Given the description of an element on the screen output the (x, y) to click on. 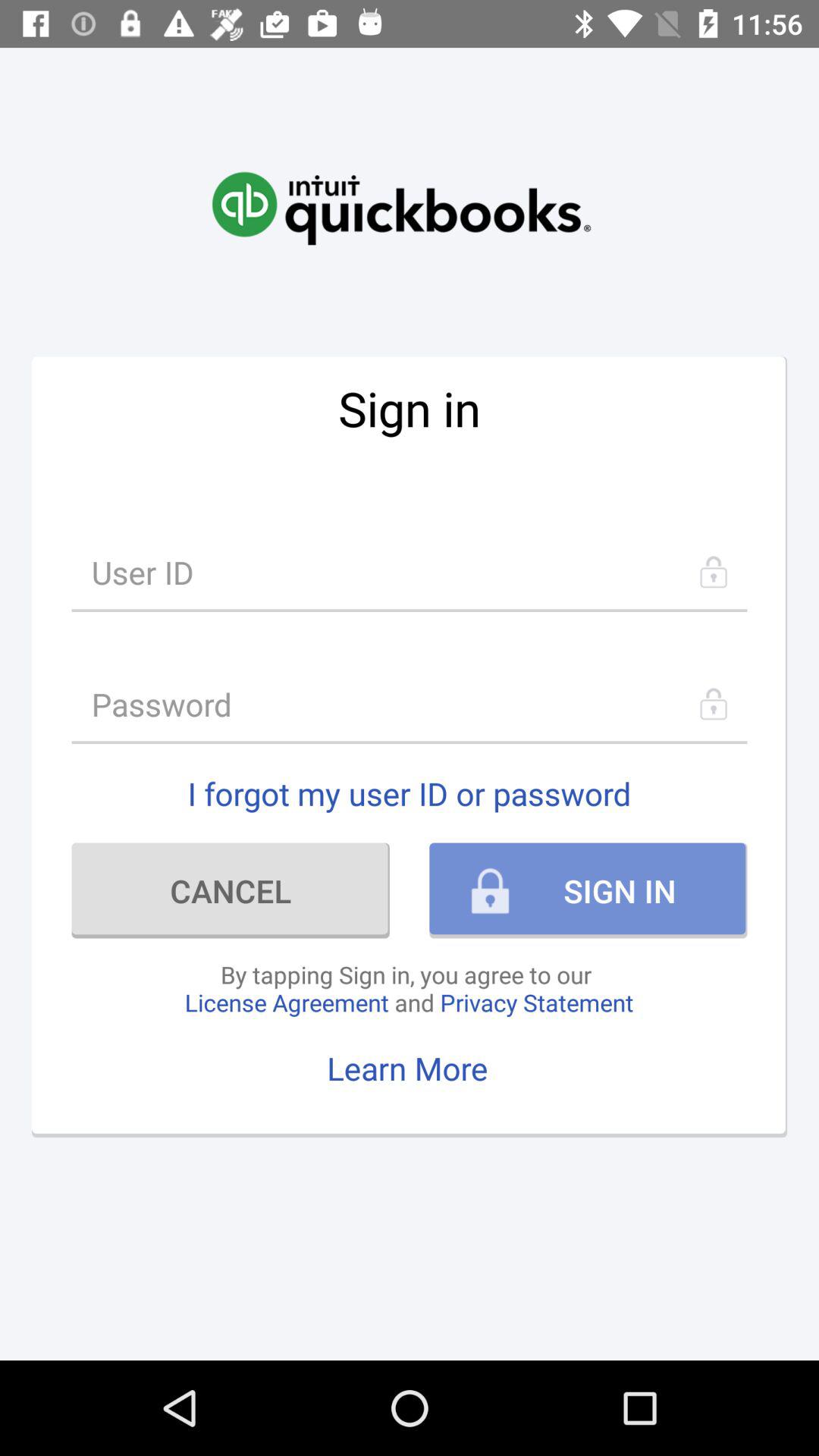
enter your user id (409, 571)
